Given the description of an element on the screen output the (x, y) to click on. 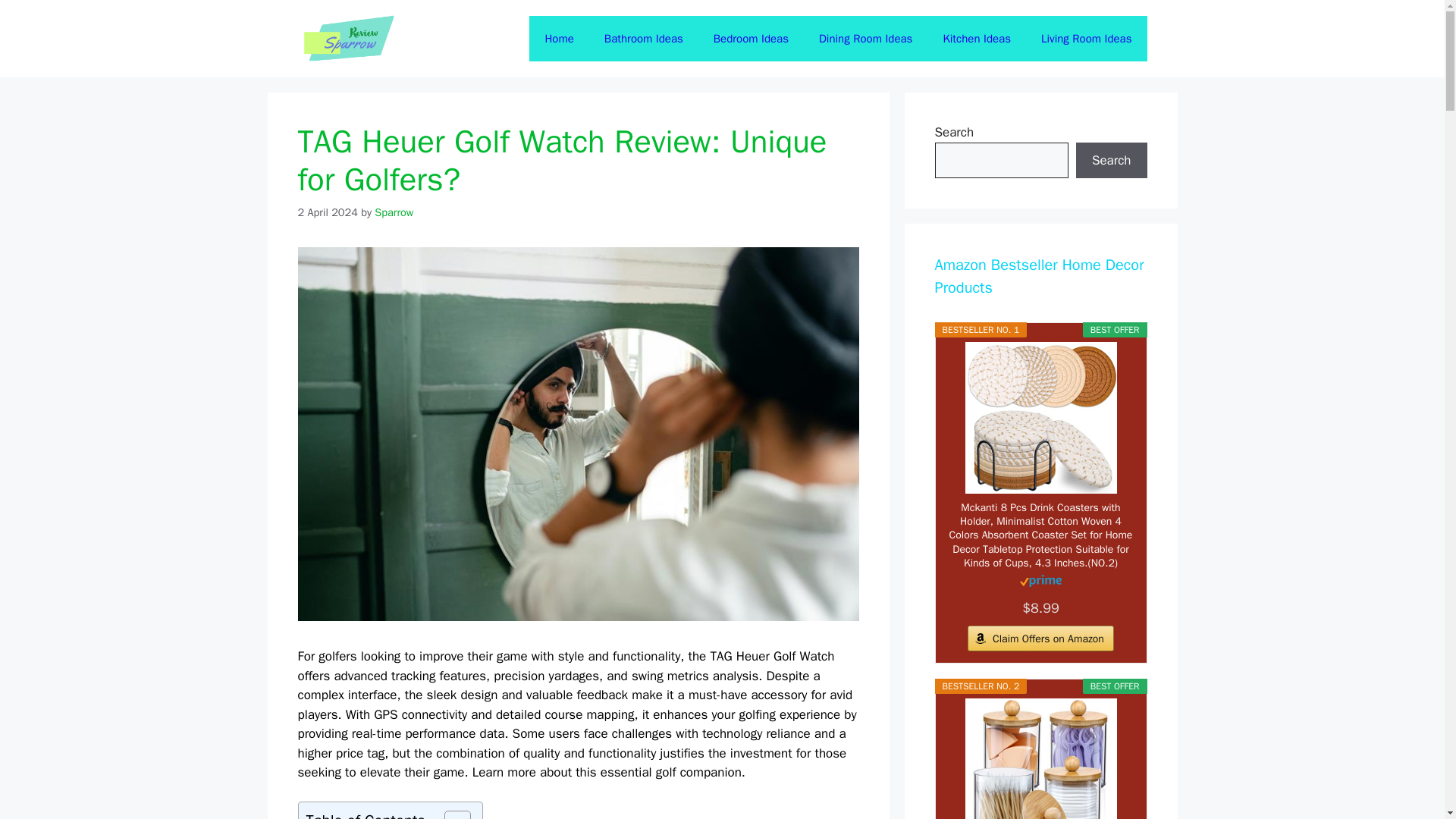
Home (558, 38)
Bathroom Ideas (643, 38)
Dining Room Ideas (865, 38)
Bedroom Ideas (750, 38)
View all posts by Sparrow (393, 212)
Living Room Ideas (1086, 38)
Sparrow (393, 212)
Kitchen Ideas (976, 38)
